Given the description of an element on the screen output the (x, y) to click on. 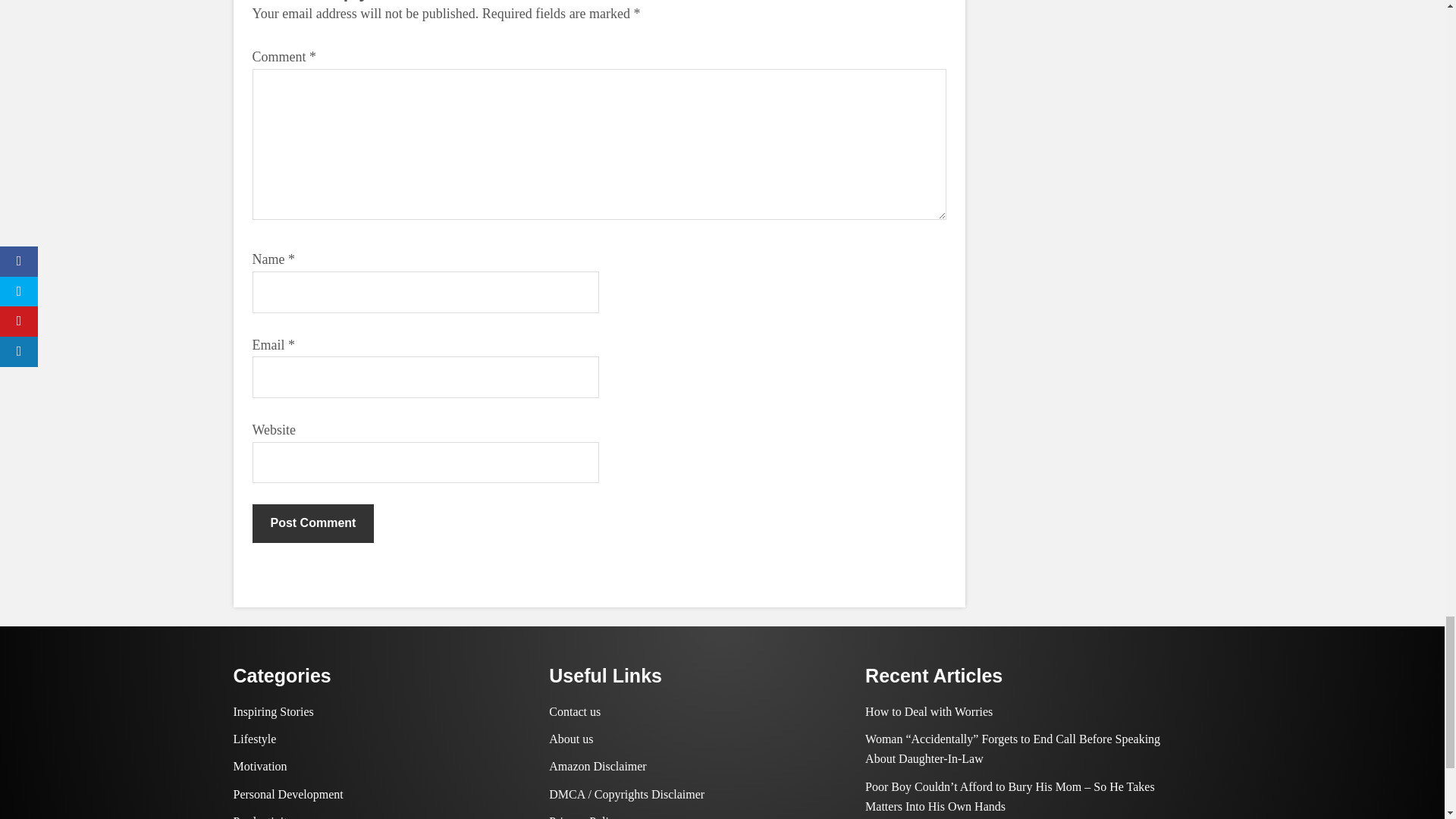
Post Comment (312, 523)
